Given the description of an element on the screen output the (x, y) to click on. 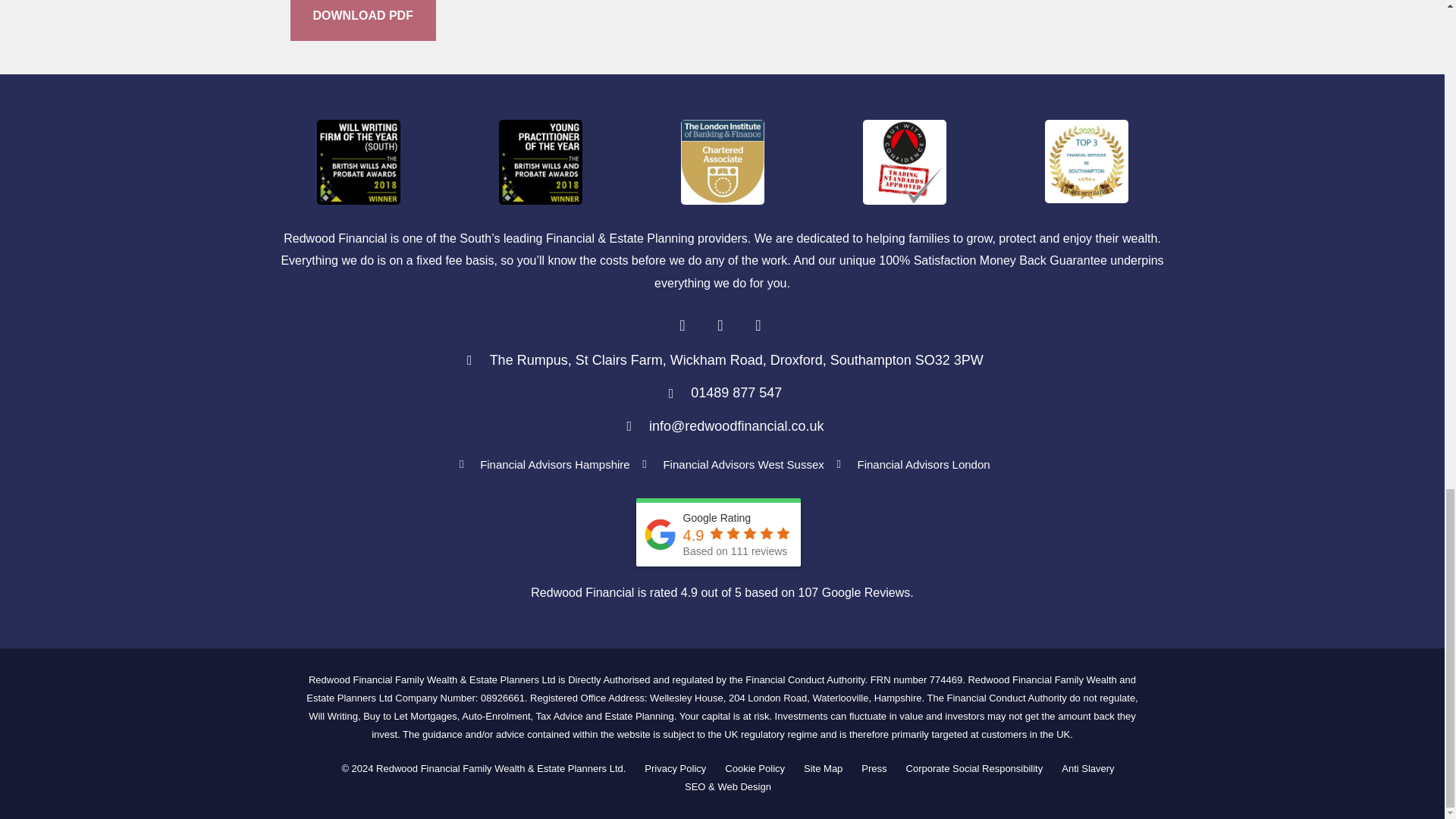
DOWNLOAD PDF (362, 20)
